Given the description of an element on the screen output the (x, y) to click on. 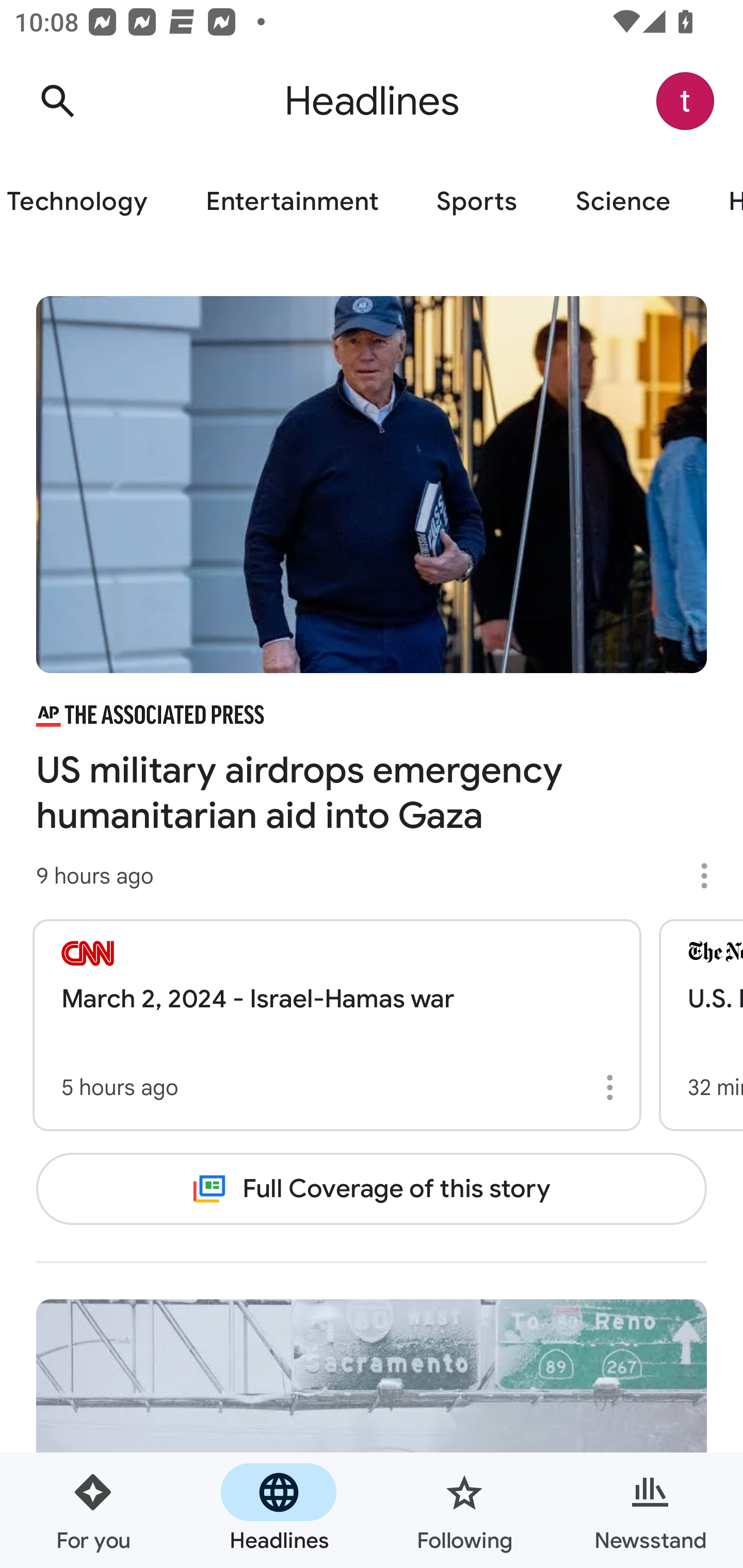
Search (57, 100)
Technology (88, 202)
Entertainment (291, 202)
Sports (476, 202)
Science (622, 202)
More options (711, 875)
More options (613, 1086)
Full Coverage of this story (371, 1188)
For you (92, 1509)
Headlines (278, 1509)
Following (464, 1509)
Newsstand (650, 1509)
